Given the description of an element on the screen output the (x, y) to click on. 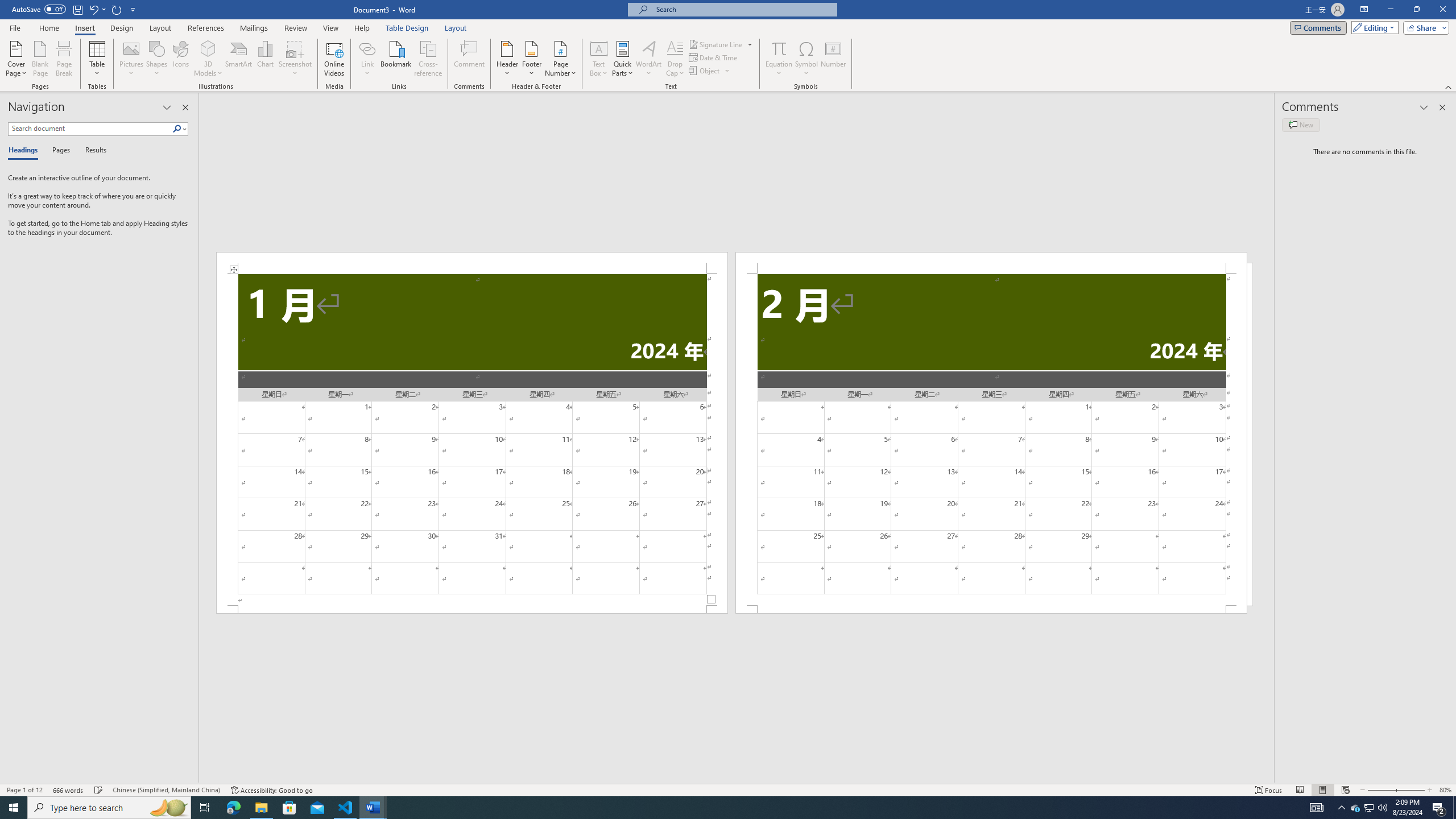
Language Chinese (Simplified, Mainland China) (165, 790)
Print Layout (1322, 790)
Undo Increase Indent (96, 9)
Signature Line (721, 44)
Comments (1318, 27)
Footer (531, 58)
Search document (89, 128)
Object... (705, 69)
Bookmark... (396, 58)
Focus  (1268, 790)
Drop Cap (674, 58)
WordArt (648, 58)
Footer -Section 1- (471, 609)
Text Box (598, 58)
Web Layout (1344, 790)
